Given the description of an element on the screen output the (x, y) to click on. 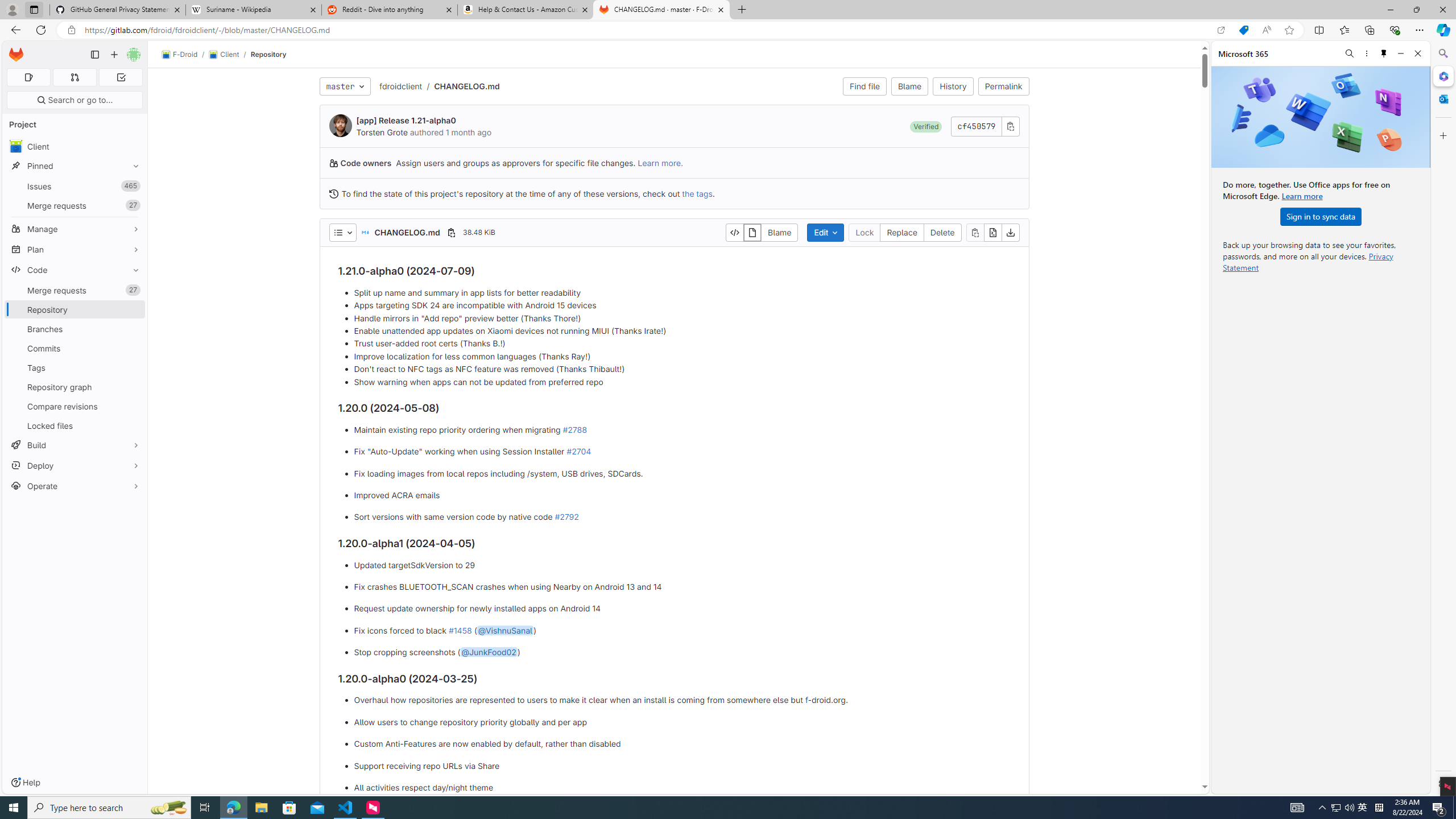
Issues465 (74, 185)
Assigned issues 0 (28, 76)
Delete (942, 232)
@VishnuSanal (504, 629)
Unpin Merge requests (132, 290)
Code (74, 269)
Class: s16 gl-mr-1 gl-align-text-bottom (333, 193)
Client/ (229, 54)
Compare revisions (74, 406)
/CHANGELOG.md (460, 85)
